Given the description of an element on the screen output the (x, y) to click on. 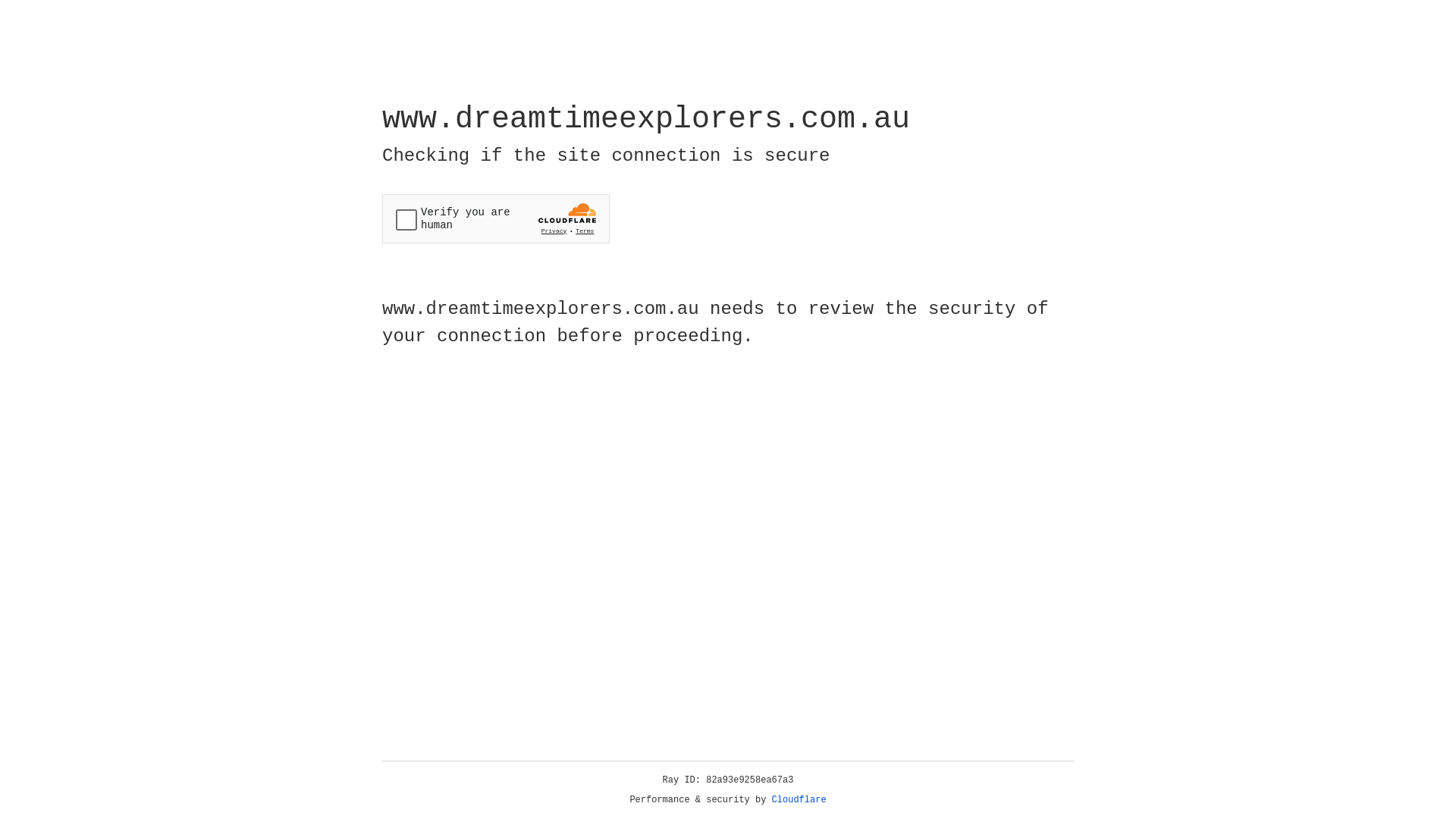
Cloudflare Element type: text (798, 799)
Widget containing a Cloudflare security challenge Element type: hover (495, 218)
